Given the description of an element on the screen output the (x, y) to click on. 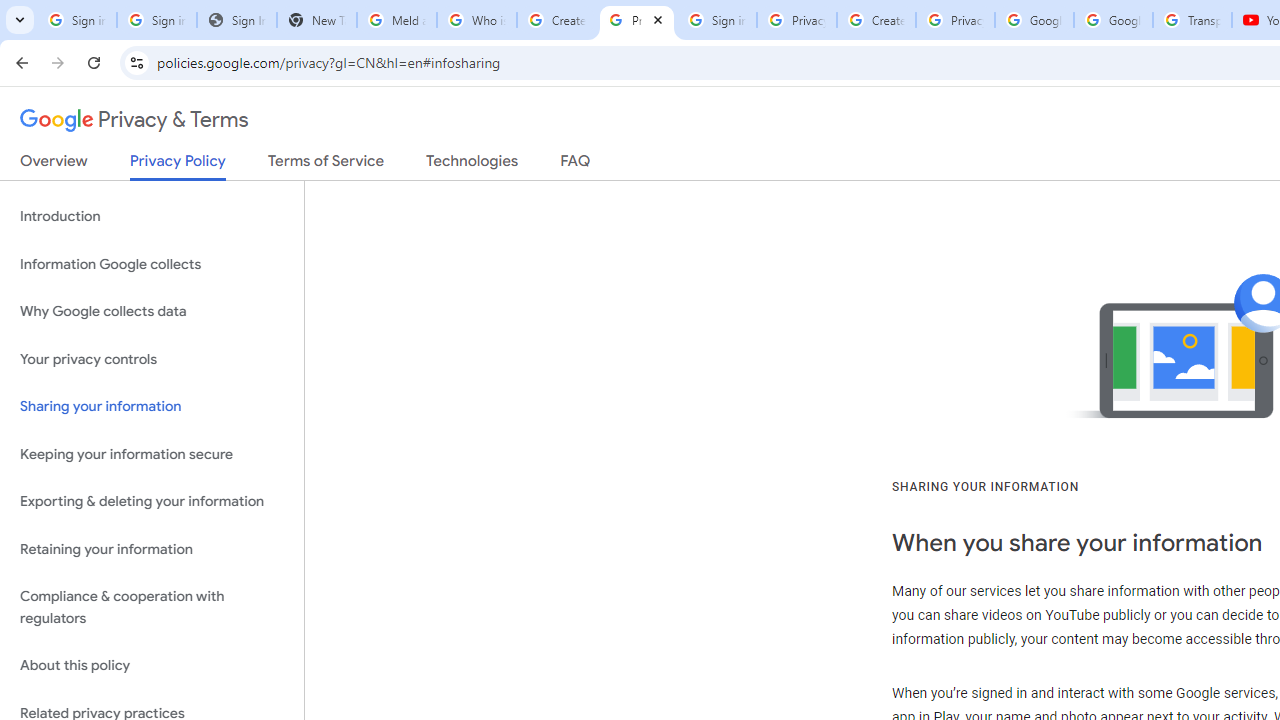
Create your Google Account (876, 20)
Google Account (1113, 20)
Why Google collects data (152, 312)
Introduction (152, 216)
Compliance & cooperation with regulators (152, 607)
Exporting & deleting your information (152, 502)
Your privacy controls (152, 358)
Sign in - Google Accounts (716, 20)
Sign in - Google Accounts (156, 20)
